Given the description of an element on the screen output the (x, y) to click on. 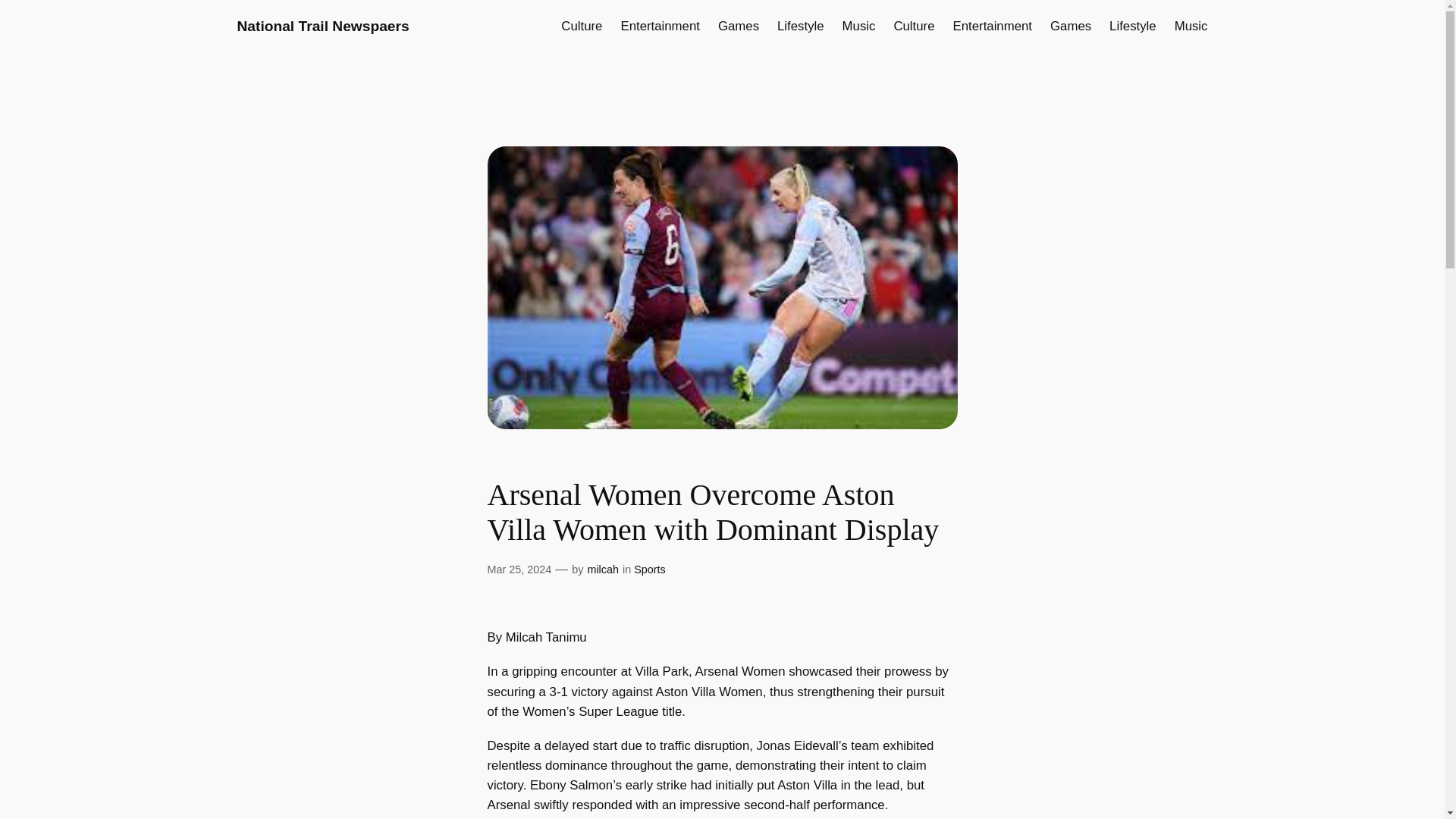
Culture (581, 26)
Music (1191, 26)
Music (859, 26)
Mar 25, 2024 (518, 569)
milcah (602, 569)
National Trail Newspaers (322, 26)
Entertainment (659, 26)
Sports (649, 569)
Entertainment (992, 26)
Games (1069, 26)
